Given the description of an element on the screen output the (x, y) to click on. 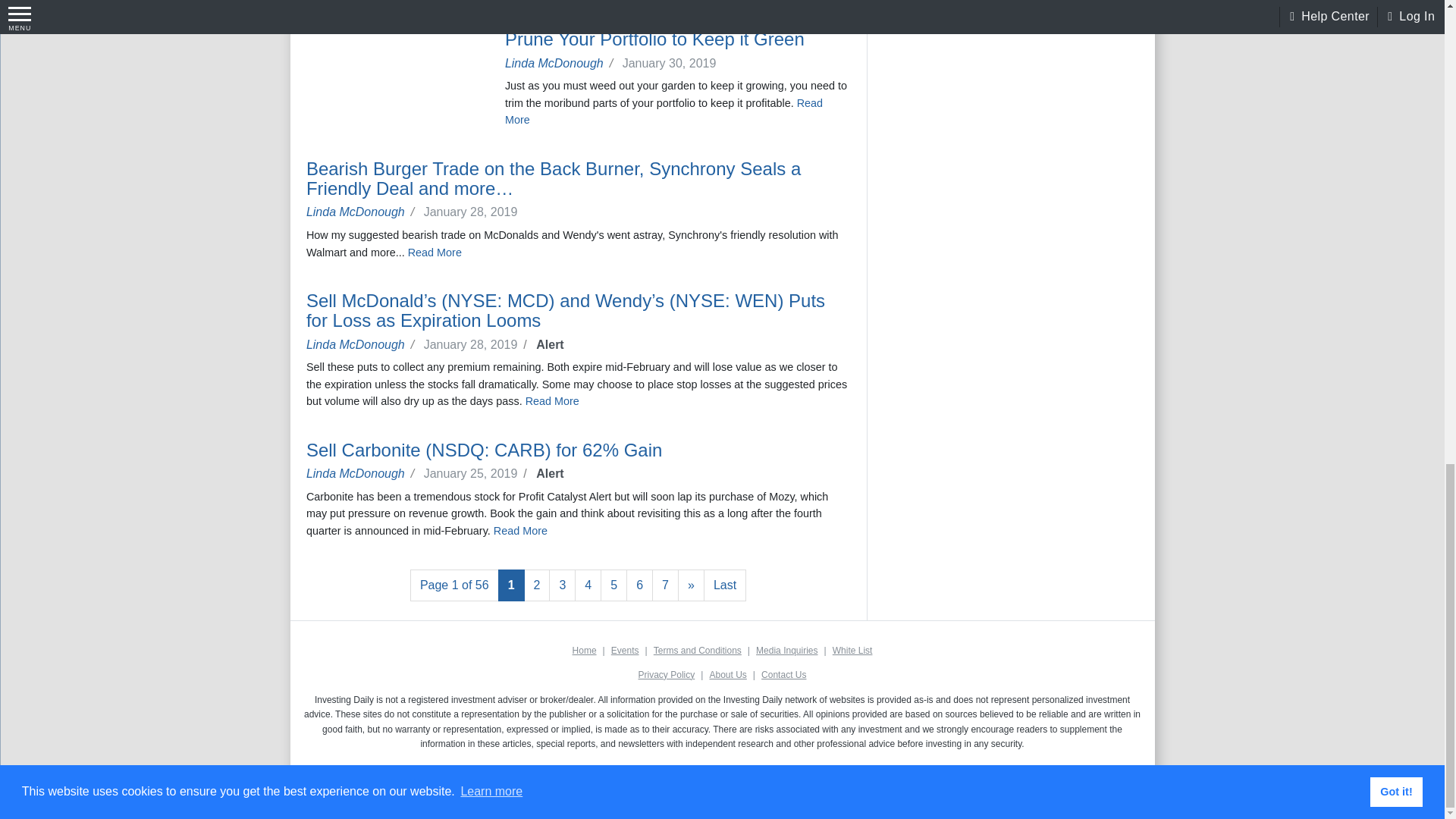
2019-01-28 (477, 344)
2019-01-28 (473, 211)
2019-01-30 (672, 62)
2019-01-25 (477, 472)
